Given the description of an element on the screen output the (x, y) to click on. 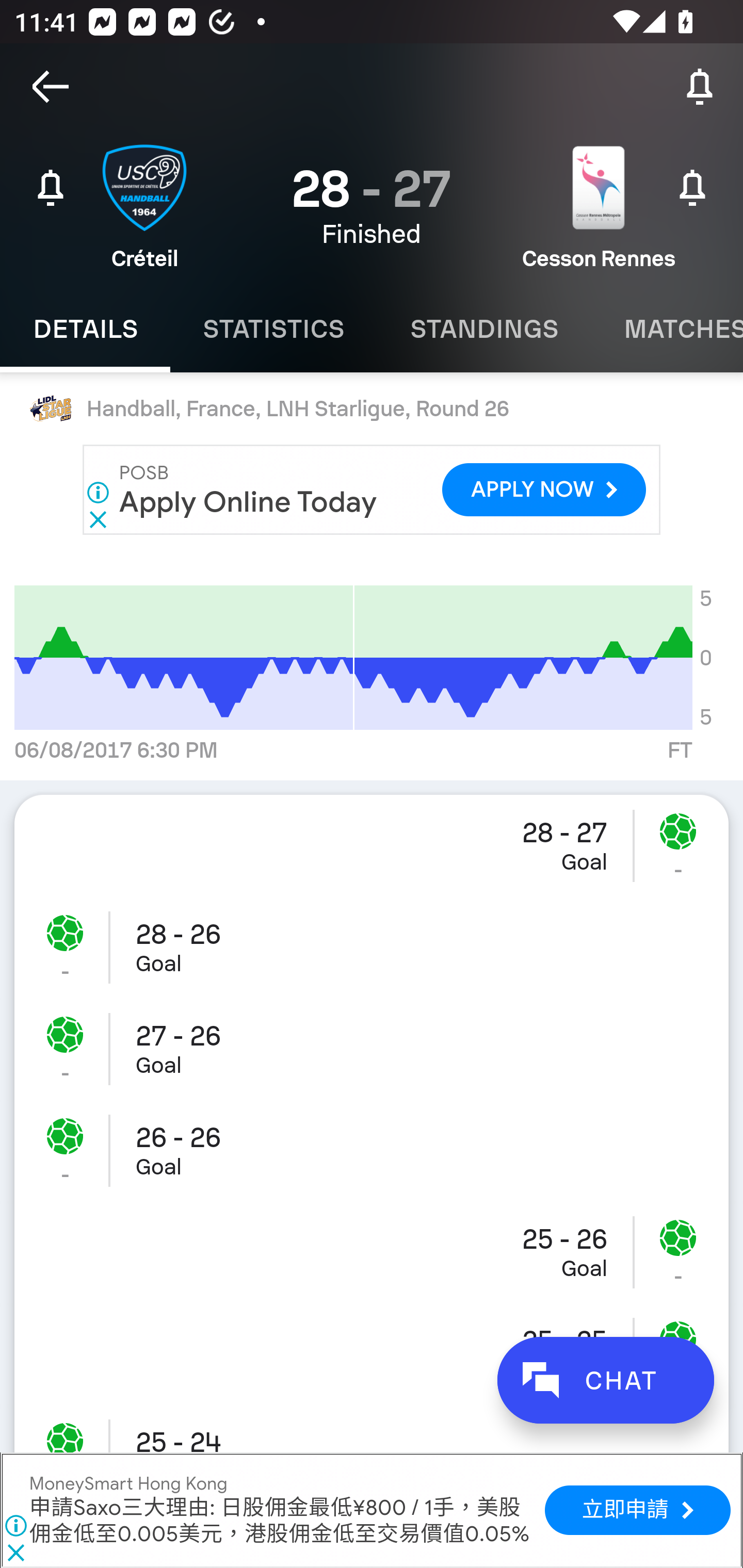
Navigate up (50, 86)
Statistics STATISTICS (273, 329)
Standings STANDINGS (483, 329)
Handball, France, LNH Starligue, Round 26 (371, 409)
POSB (144, 472)
APPLY NOW (543, 489)
Apply Online Today (248, 501)
28 - 27 Goal Goal - (371, 845)
Goal 28 - 26 - Goal (371, 947)
Goal 27 - 26 - Goal (371, 1048)
Goal 26 - 26 - Goal (371, 1150)
25 - 26 Goal Goal - (371, 1252)
CHAT (605, 1380)
Goal 25 - 24 (371, 1427)
MoneySmart Hong Kong (128, 1483)
立即申請 (637, 1510)
